Given the description of an element on the screen output the (x, y) to click on. 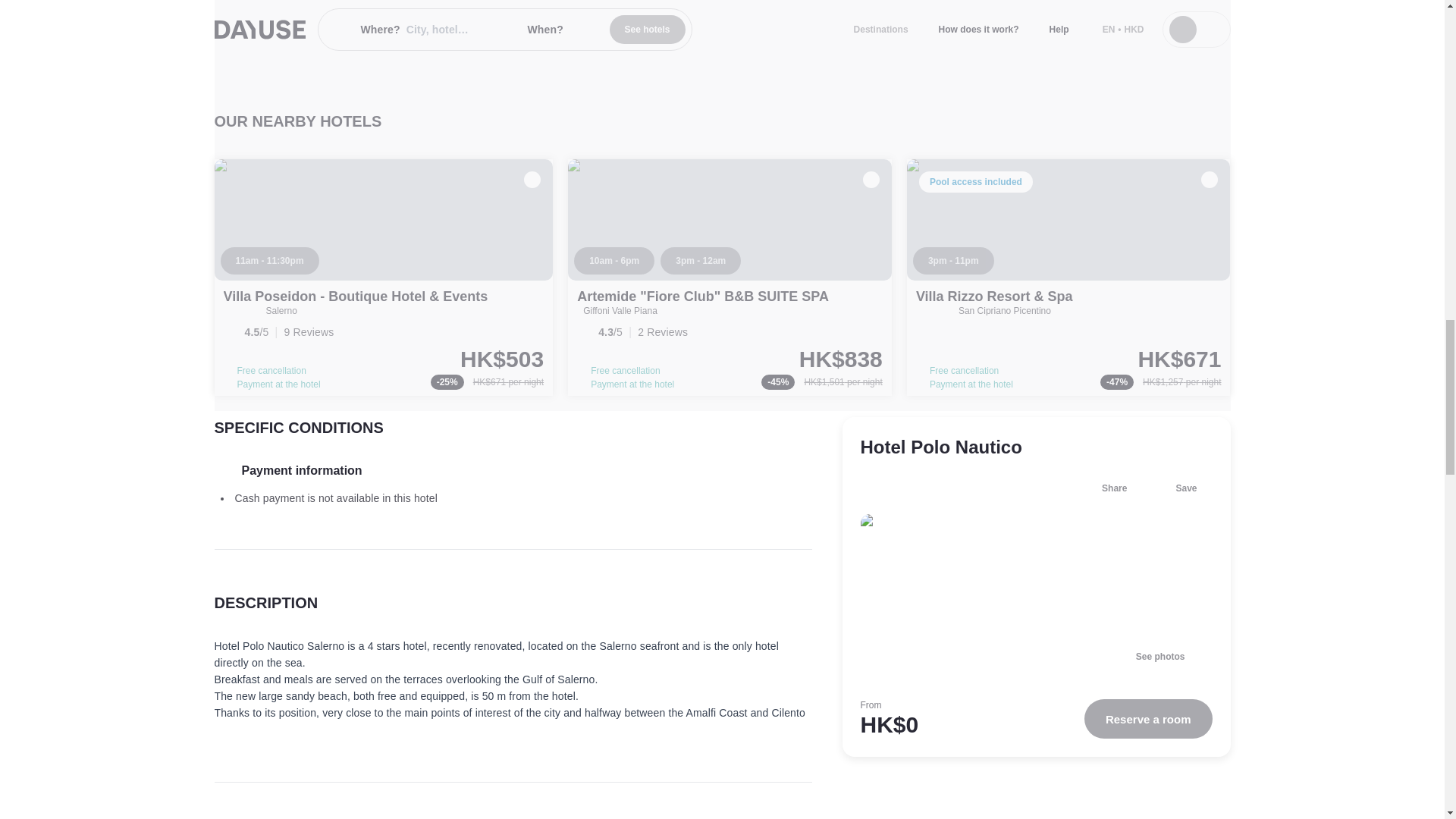
11am - 11:30pm (268, 260)
10am - 6pm (613, 260)
3pm - 12am (701, 260)
